Given the description of an element on the screen output the (x, y) to click on. 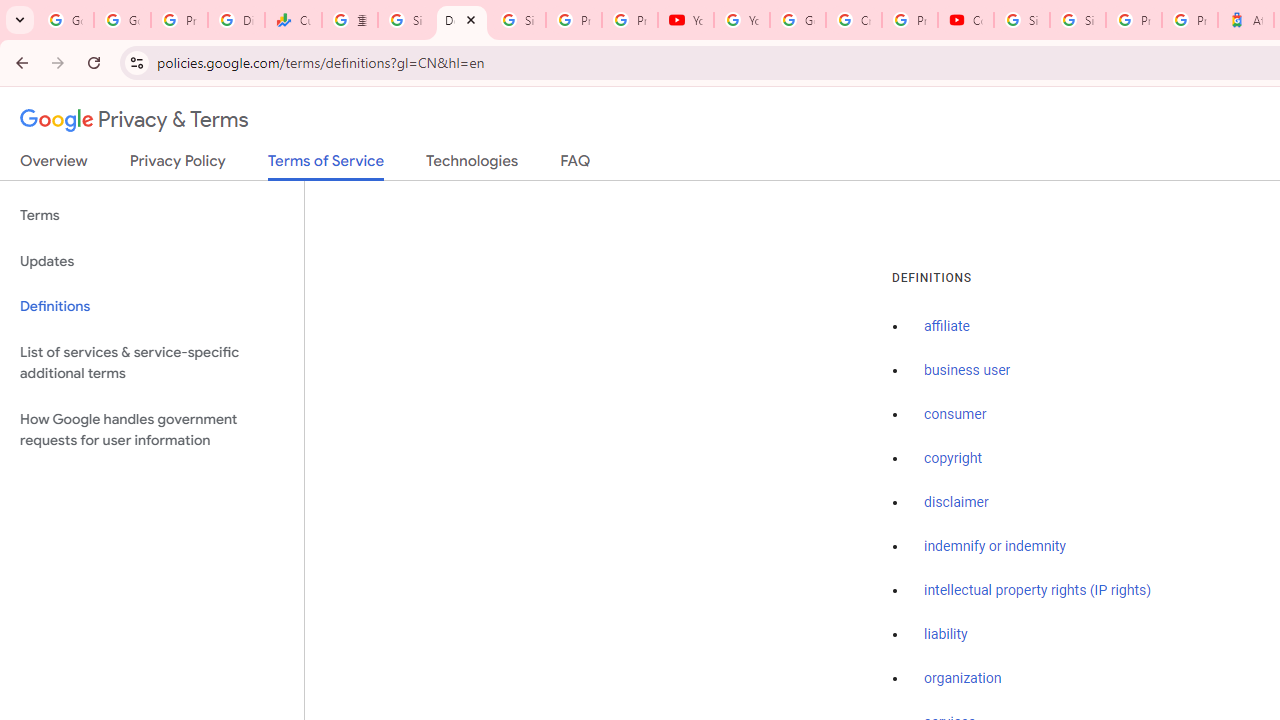
affiliate (947, 327)
